Given the description of an element on the screen output the (x, y) to click on. 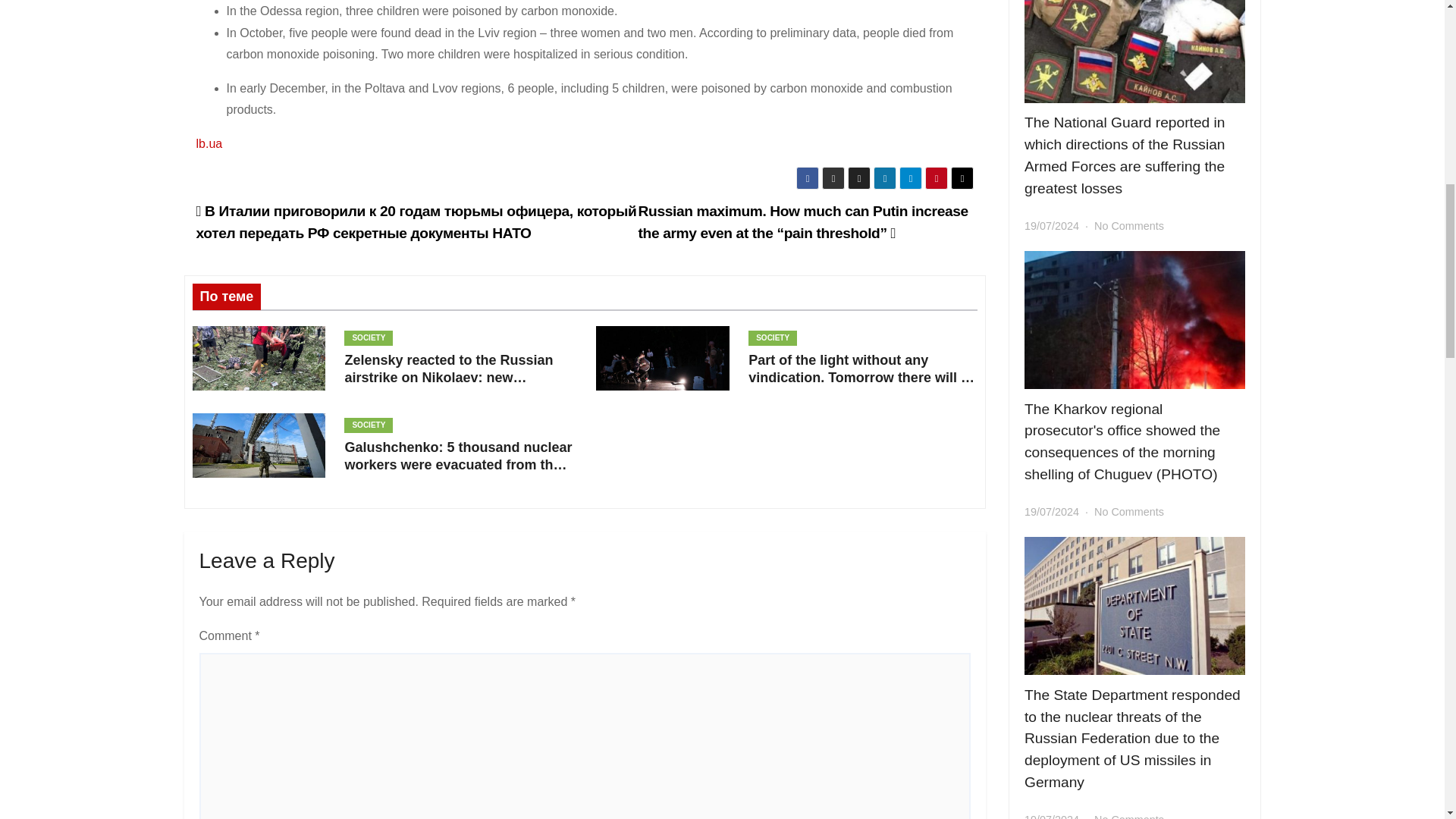
lb.ua (208, 143)
